Given the description of an element on the screen output the (x, y) to click on. 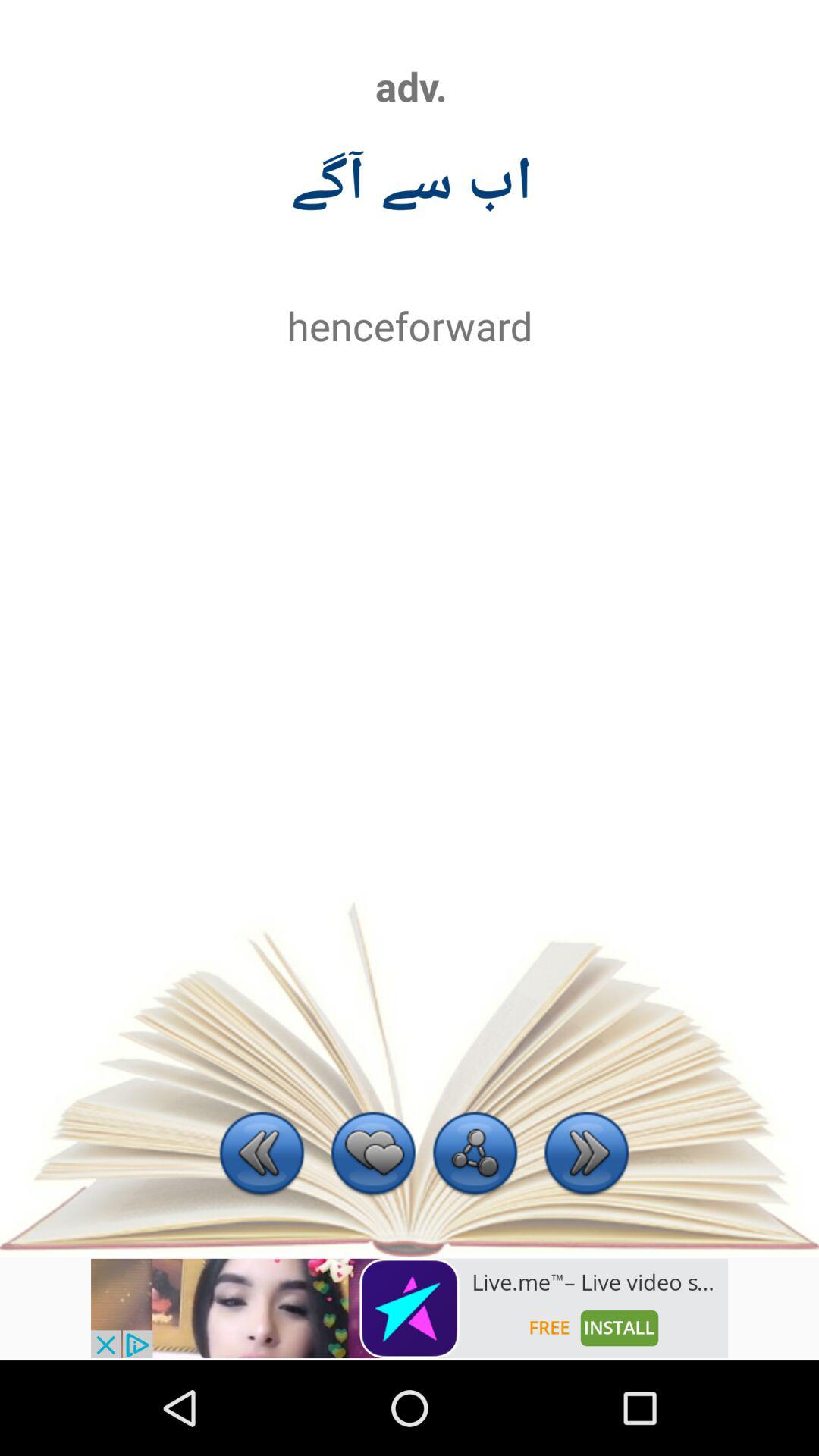
next arrow button (586, 1155)
